Given the description of an element on the screen output the (x, y) to click on. 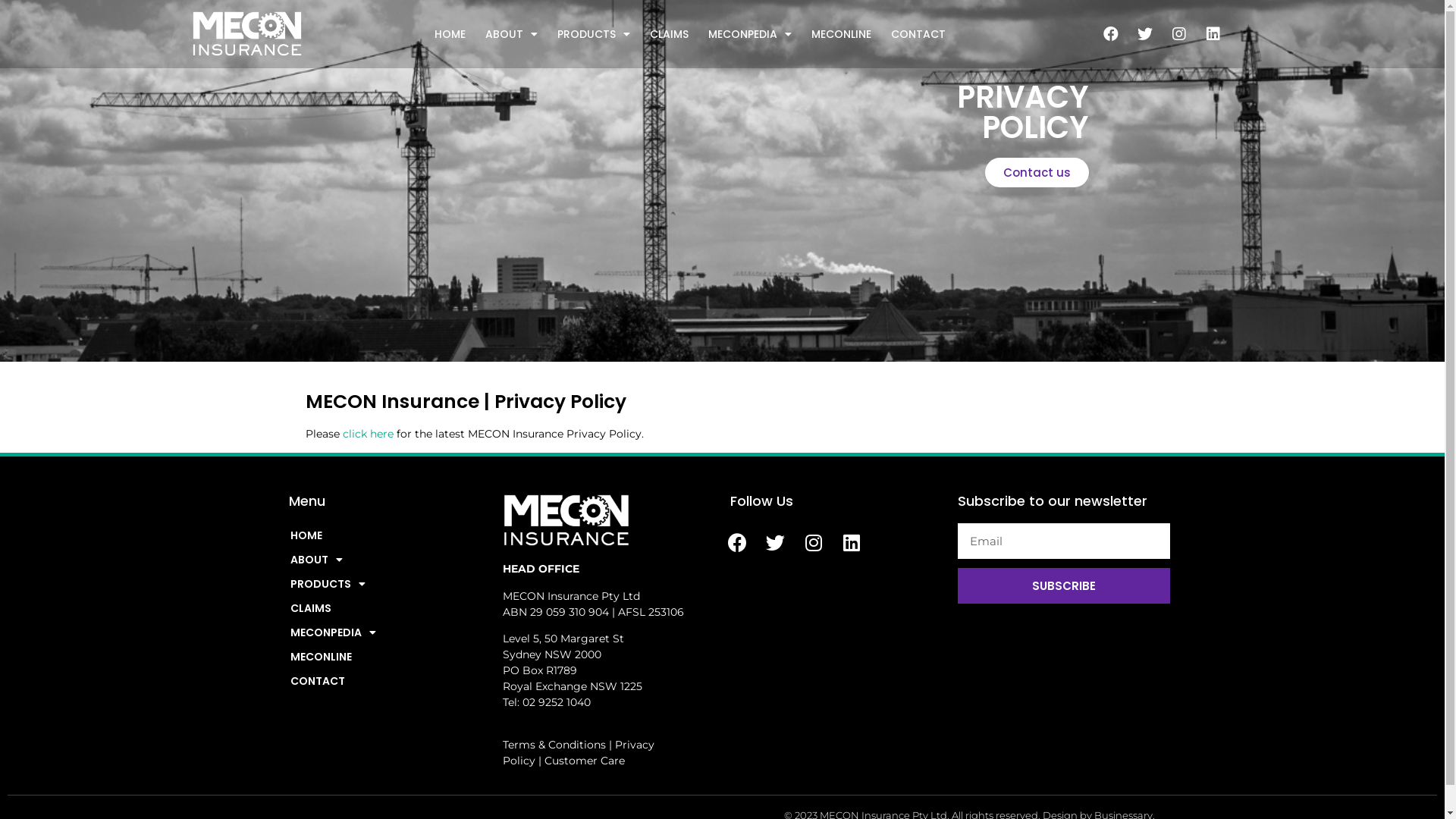
MECONPEDIA Element type: text (749, 33)
Terms & Conditions Element type: text (553, 744)
click here Element type: text (367, 433)
HOME Element type: text (380, 535)
Contact us Element type: text (1036, 172)
CONTACT Element type: text (380, 680)
MECONLINE Element type: text (380, 656)
HOME Element type: text (449, 33)
Privacy Policy Element type: text (577, 752)
CLAIMS Element type: text (380, 608)
ABOUT Element type: text (511, 33)
PRODUCTS Element type: text (593, 33)
CONTACT Element type: text (918, 33)
MECONPEDIA Element type: text (380, 632)
MECONLINE Element type: text (840, 33)
CLAIMS Element type: text (669, 33)
Customer Care Element type: text (584, 760)
SUBSCRIBE Element type: text (1063, 585)
PRODUCTS Element type: text (380, 583)
ABOUT Element type: text (380, 559)
